Given the description of an element on the screen output the (x, y) to click on. 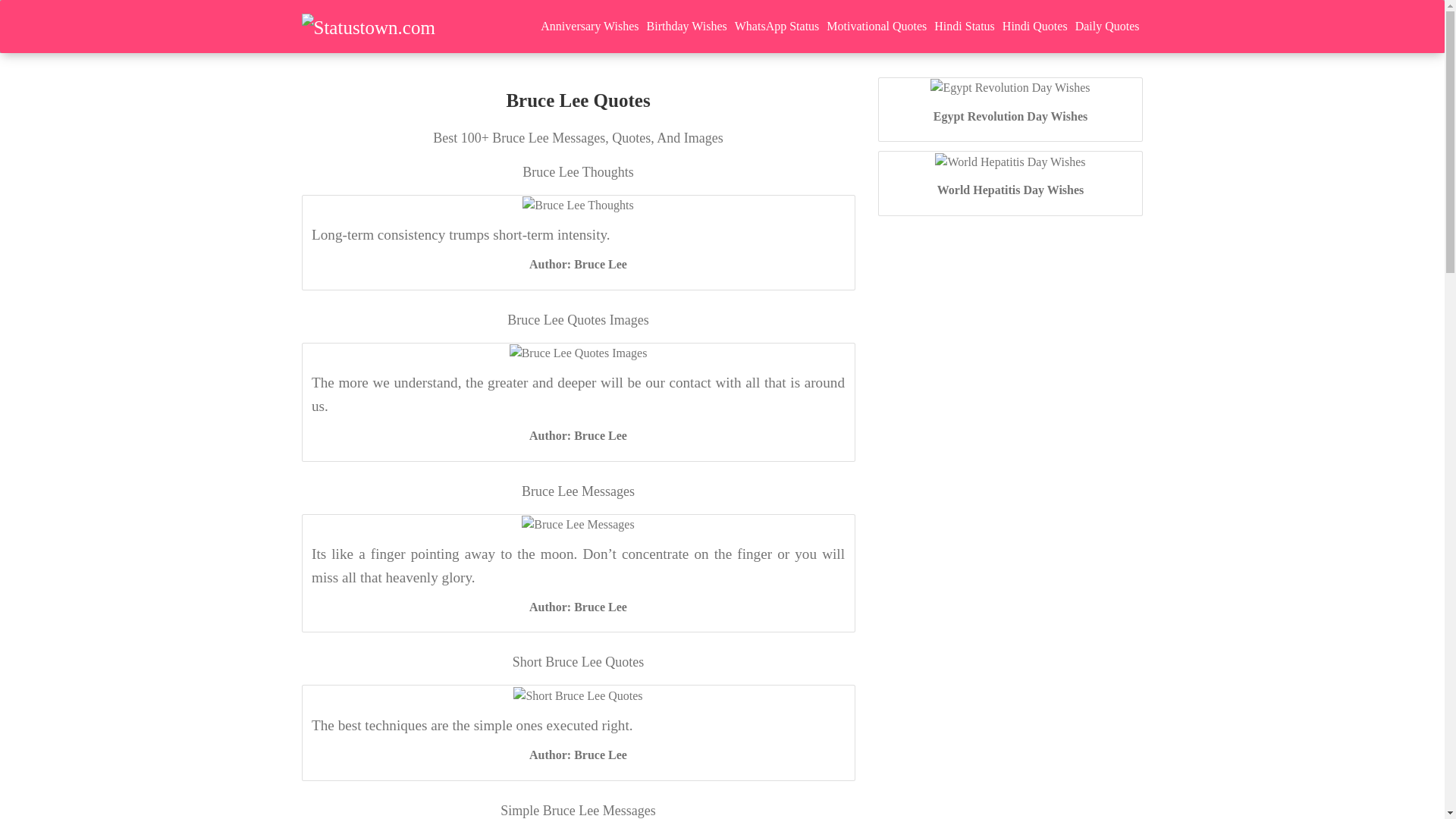
Anniversary Wishes (589, 26)
World Hepatitis Day Wishes (1010, 189)
Egypt Revolution Day Wishes (1010, 115)
Hindi Status (964, 26)
Birthday Wishes (686, 26)
Motivational Quotes (876, 26)
WhatsApp Status (777, 26)
World Hepatitis Day Wishes (1010, 189)
Egypt Revolution Day Wishes (1009, 86)
Daily Quotes (1106, 26)
Egypt Revolution Day Wishes (1010, 115)
Hindi Quotes (1034, 26)
